Given the description of an element on the screen output the (x, y) to click on. 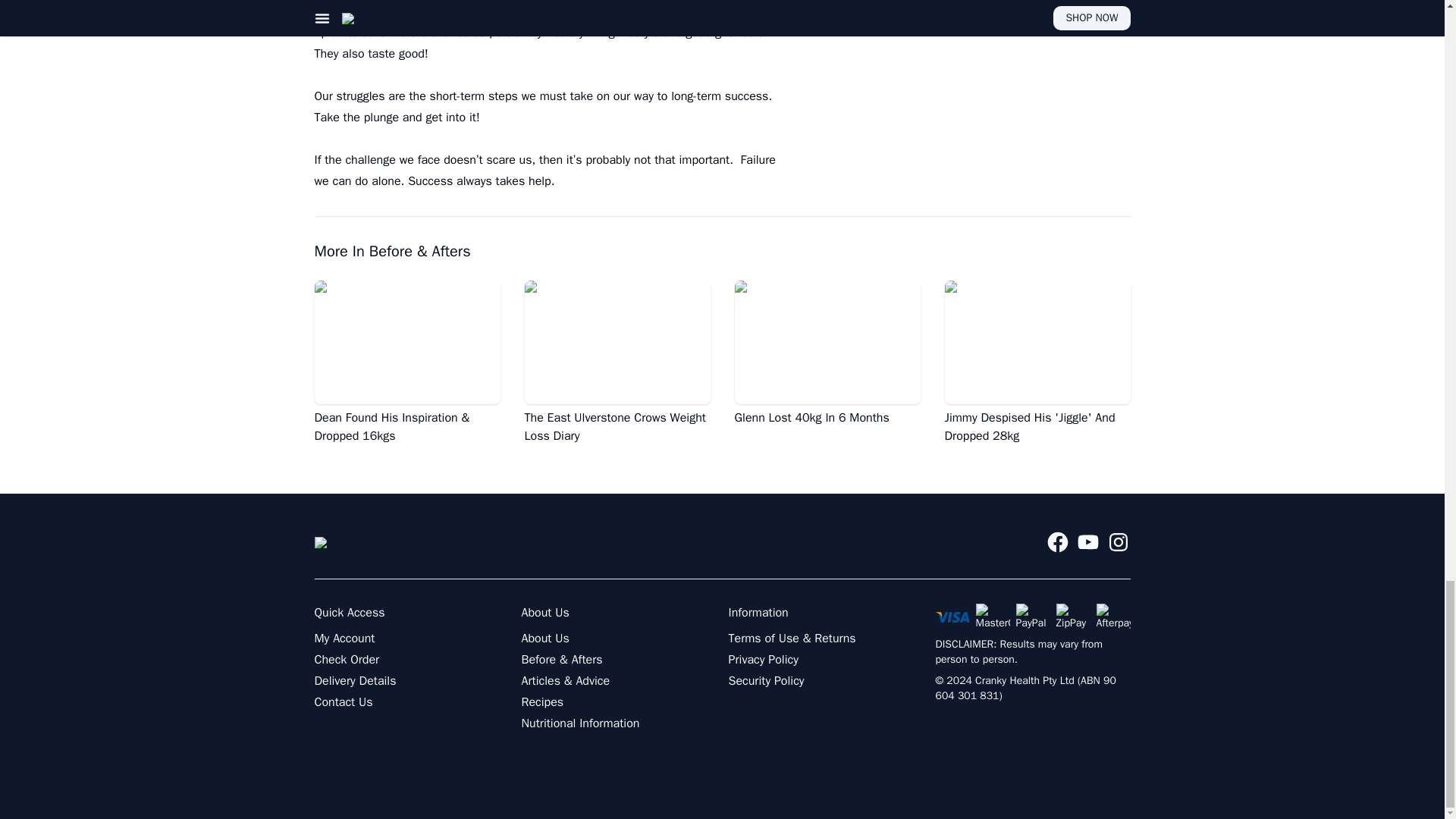
Contact Us (343, 701)
Check Order (346, 659)
MasterCard (992, 616)
Jimmy Despised His 'Jiggle' And Dropped 28kg (1037, 362)
The East Ulverstone Crows Weight Loss Diary (617, 362)
Delivery Details (355, 680)
ZipPay (1072, 616)
The East Ulverstone Crows Weight Loss Diary (617, 362)
Recipes (542, 701)
Afterpay (1113, 616)
